Given the description of an element on the screen output the (x, y) to click on. 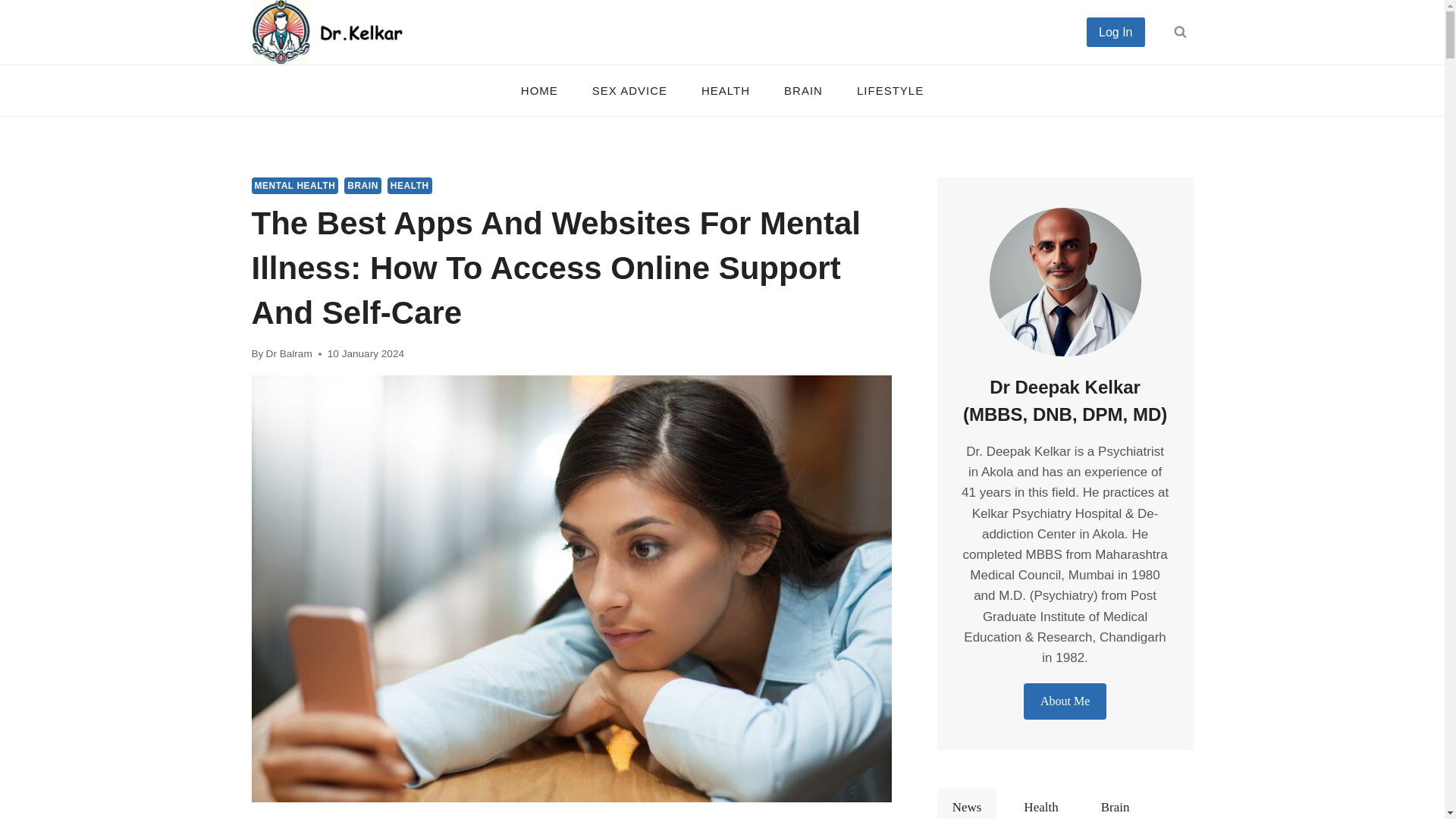
SEX ADVICE (629, 90)
BRAIN (362, 185)
Dr Balram (289, 353)
HOME (539, 90)
LIFESTYLE (890, 90)
BRAIN (803, 90)
HEALTH (725, 90)
MENTAL HEALTH (295, 185)
HEALTH (409, 185)
Log In (1115, 31)
